Given the description of an element on the screen output the (x, y) to click on. 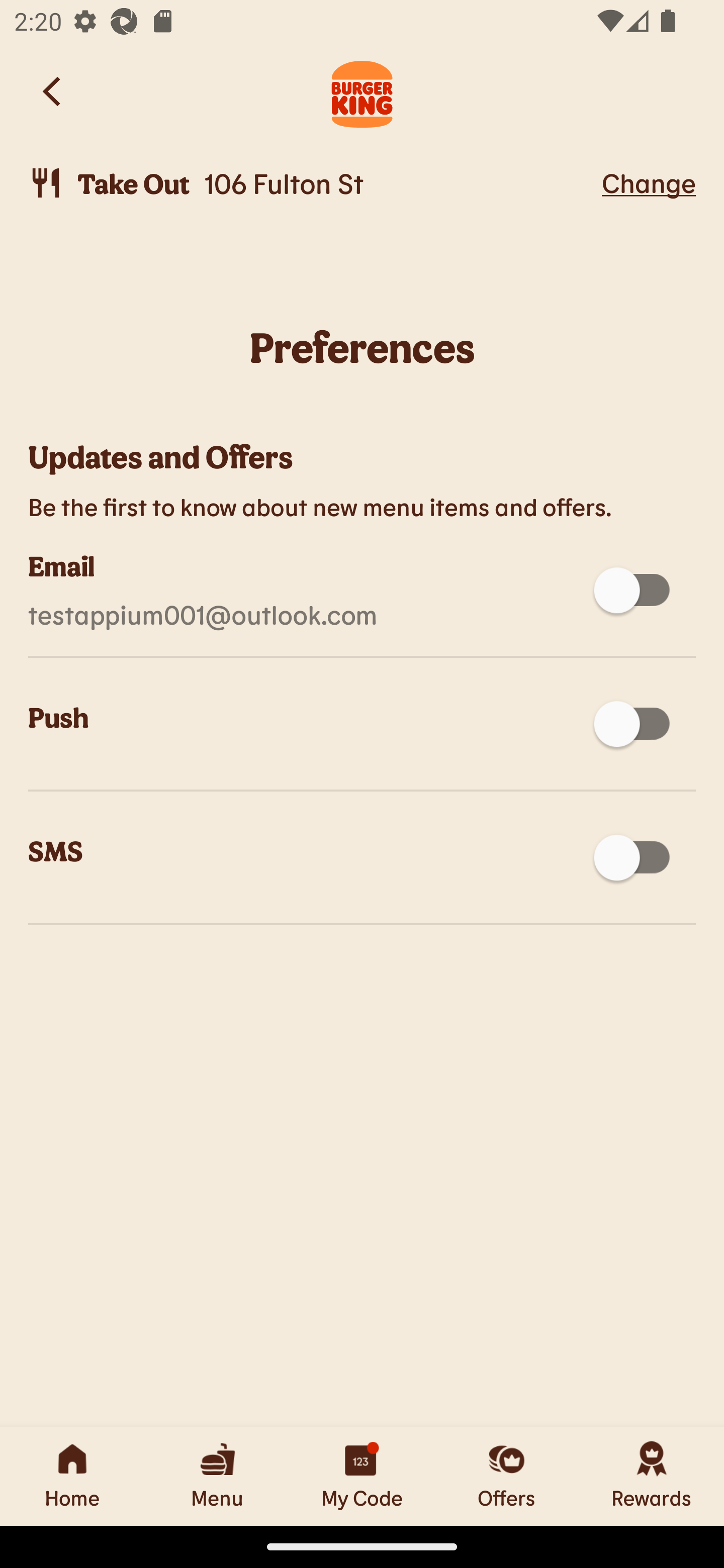
Burger King Logo. Navigate to Home (362, 91)
Back (52, 91)
Take Out, 106 Fulton St  Take Out 106 Fulton St (311, 183)
Change (648, 182)
Home (72, 1475)
Menu (216, 1475)
My Code (361, 1475)
Offers (506, 1475)
Rewards (651, 1475)
